Given the description of an element on the screen output the (x, y) to click on. 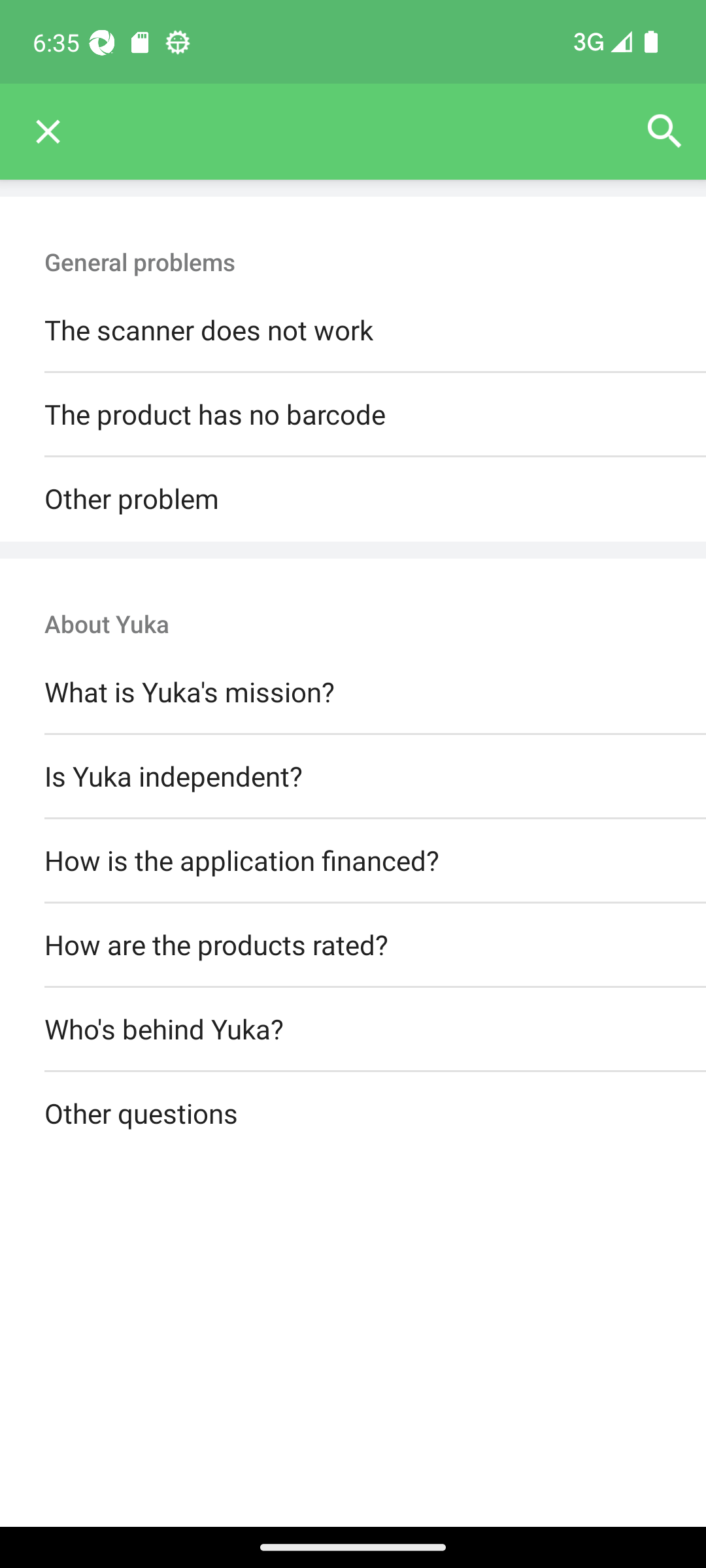
Search (664, 131)
The scanner does not work (353, 330)
The product has no barcode (353, 415)
Other problem (353, 498)
What is Yuka's mission? (353, 692)
Is Yuka independent? (353, 776)
How is the application financed? (353, 860)
How are the products rated? (353, 945)
Who's behind Yuka? (353, 1029)
Other questions (353, 1114)
